Given the description of an element on the screen output the (x, y) to click on. 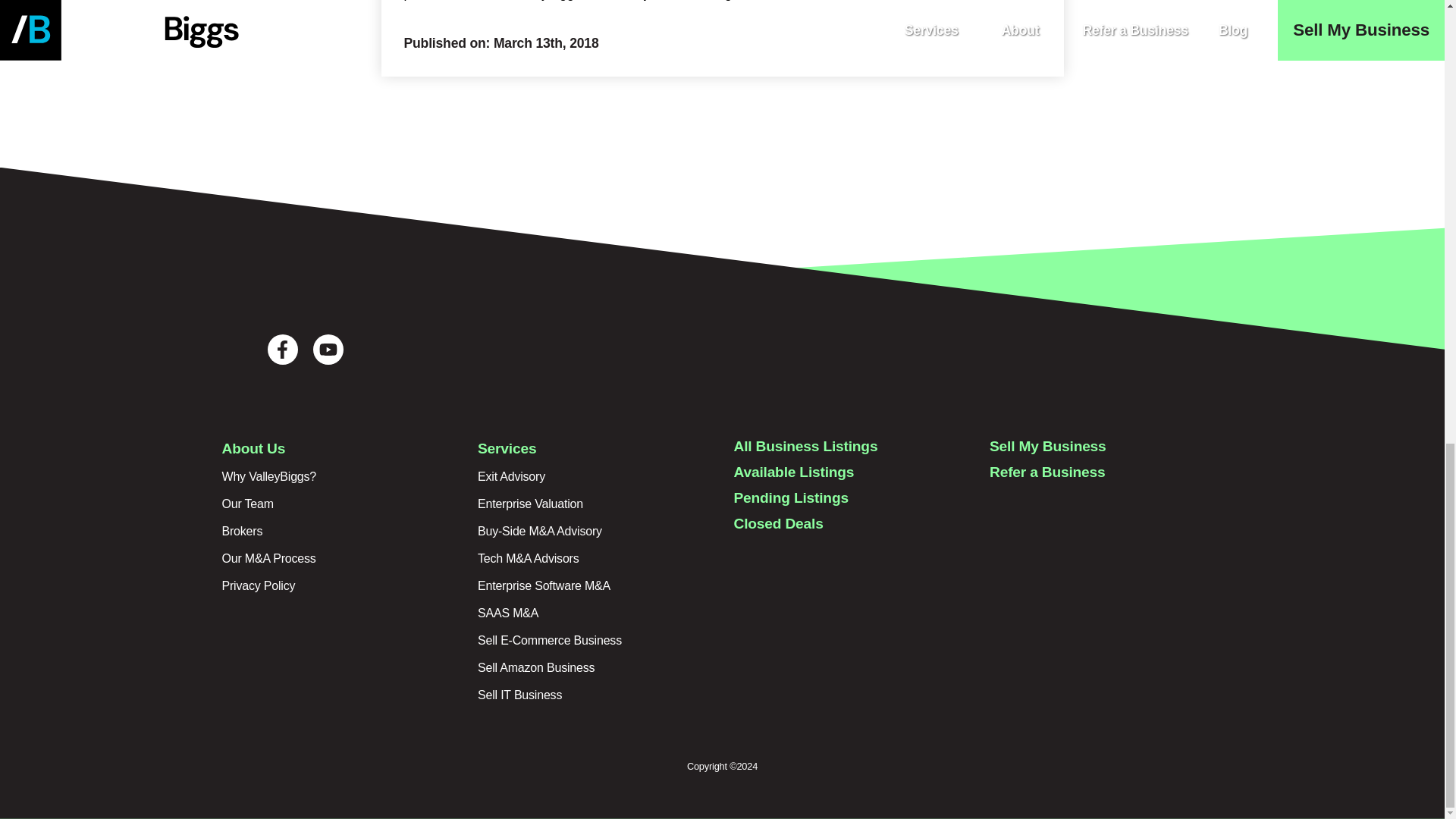
Sell IT Business (519, 694)
Enterprise Valuation (530, 503)
Brokers (241, 530)
Available Listings (793, 471)
Sell E-Commerce Business (549, 640)
Exit Advisory (510, 476)
Privacy Policy (258, 585)
Sell Amazon Business (535, 667)
Our Team (247, 503)
All Business Listings (805, 446)
